Given the description of an element on the screen output the (x, y) to click on. 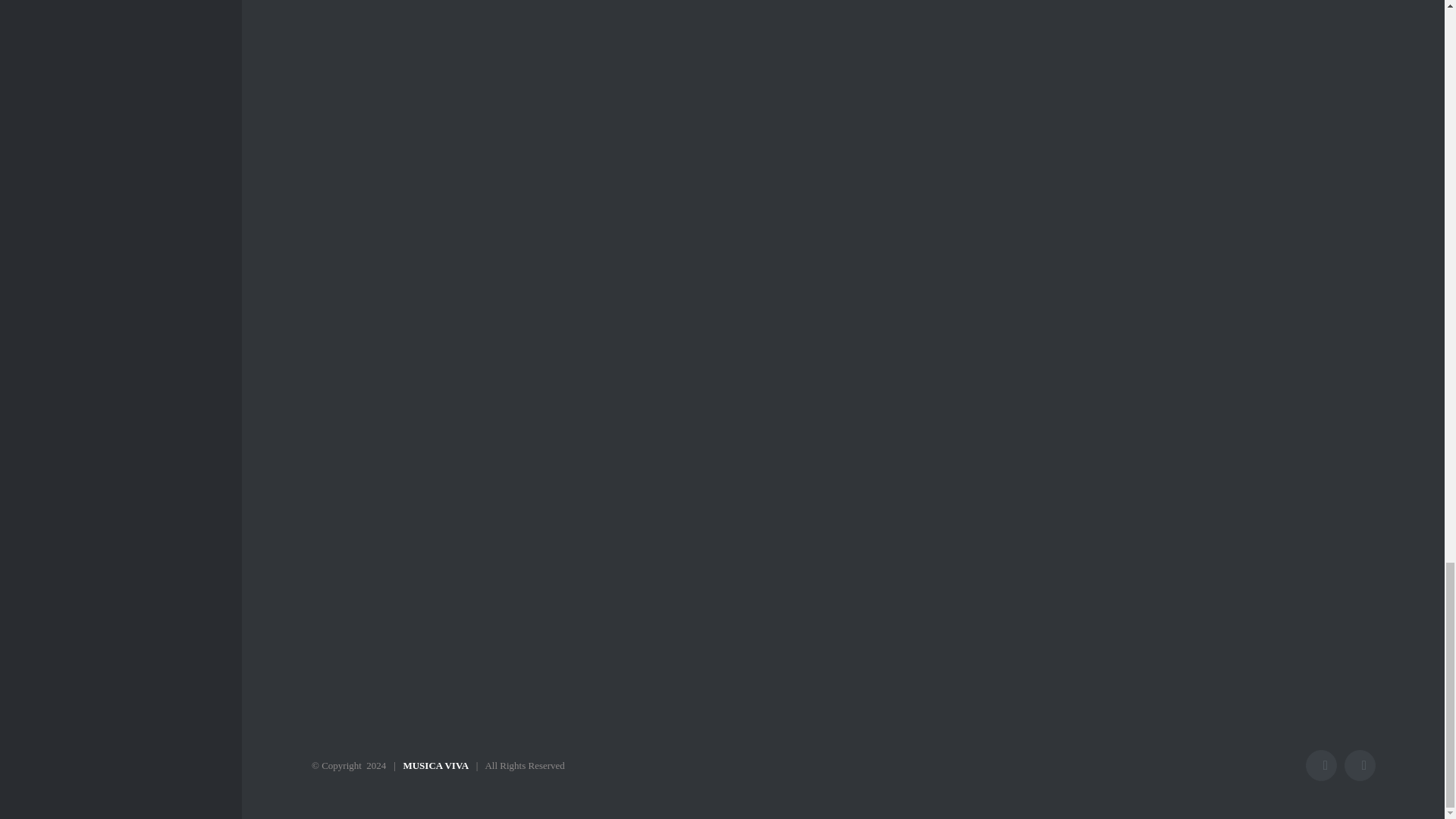
Facebook (1321, 765)
Facebook (1321, 765)
Vimeo (1359, 765)
Vimeo (1359, 765)
